Given the description of an element on the screen output the (x, y) to click on. 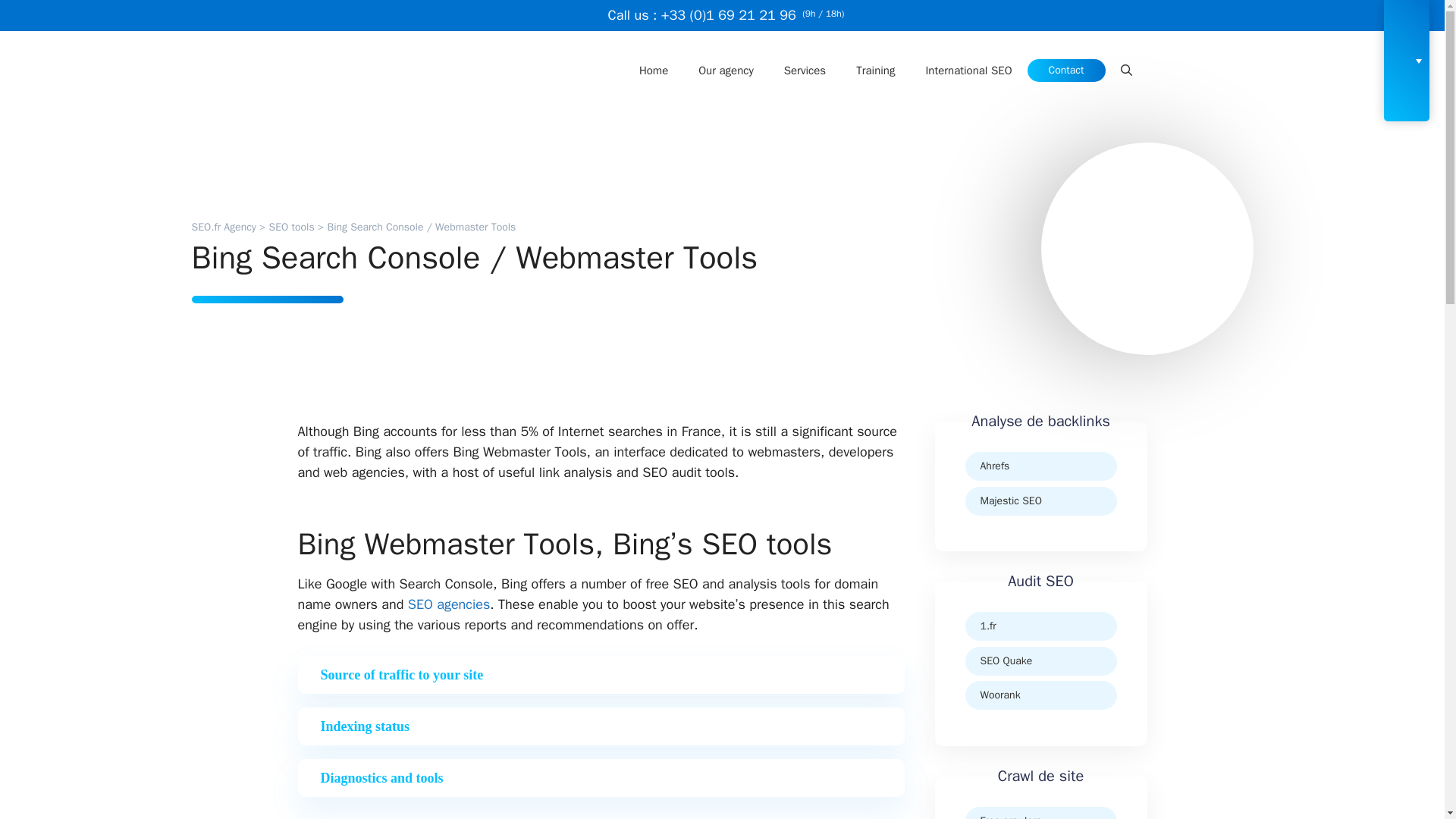
Training (875, 70)
International SEO (968, 70)
Our agency (725, 70)
Services (804, 70)
Contact (1066, 69)
SEO.fr Agency (223, 226)
Home (653, 70)
SEO tools (291, 226)
